Given the description of an element on the screen output the (x, y) to click on. 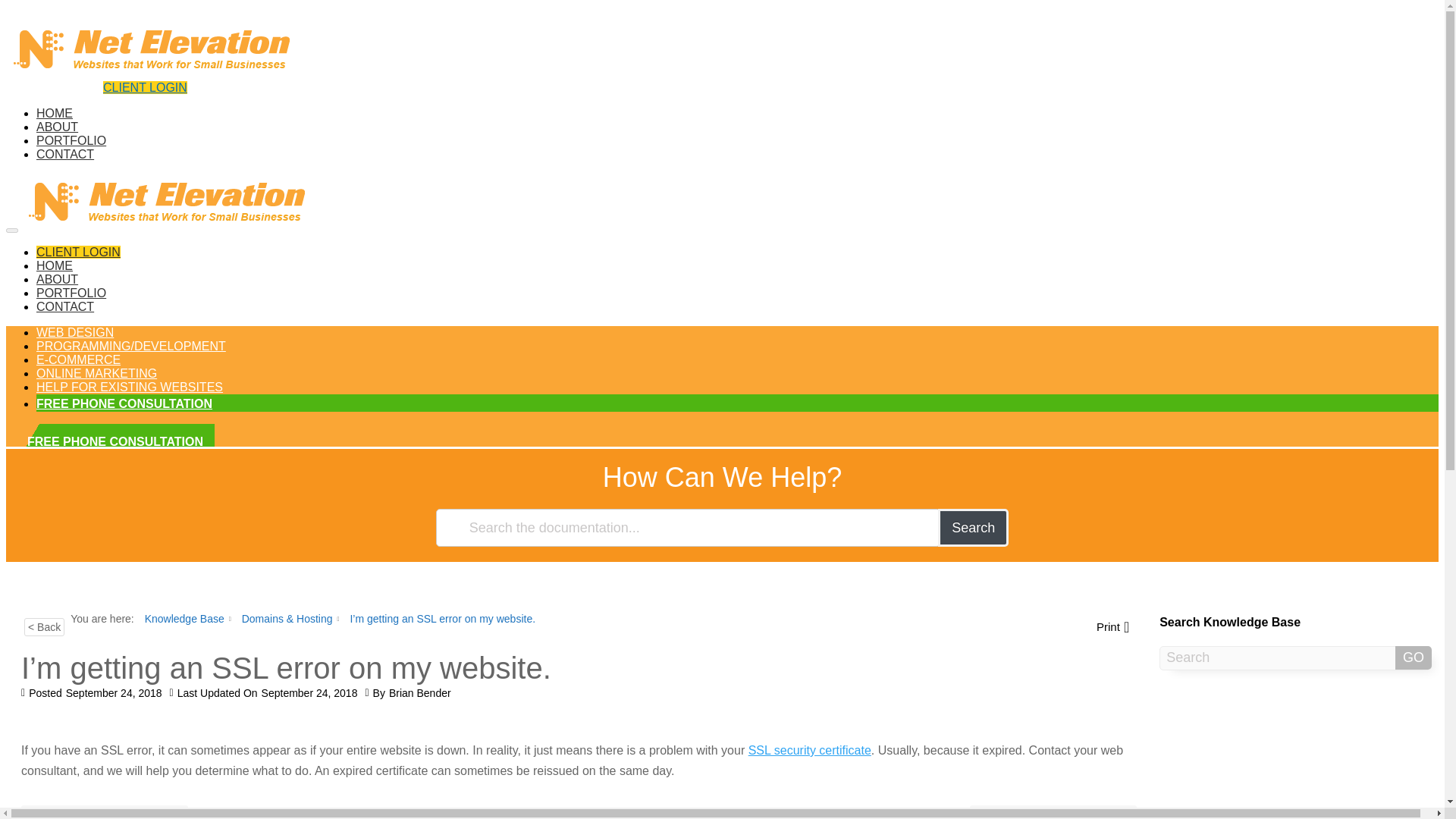
CLIENT LOGIN (78, 251)
ABOUT (57, 278)
Knowledge Base (184, 618)
HOME (1053, 812)
CLIENT LOGIN (54, 265)
HOME (145, 87)
WEB DESIGN (54, 113)
HELP FOR EXISTING WEBSITES (74, 332)
E-COMMERCE (129, 386)
ONLINE MARKETING (78, 359)
Search (96, 373)
ABOUT (973, 527)
CONTACT (57, 126)
FREE PHONE CONSULTATION (65, 154)
